Given the description of an element on the screen output the (x, y) to click on. 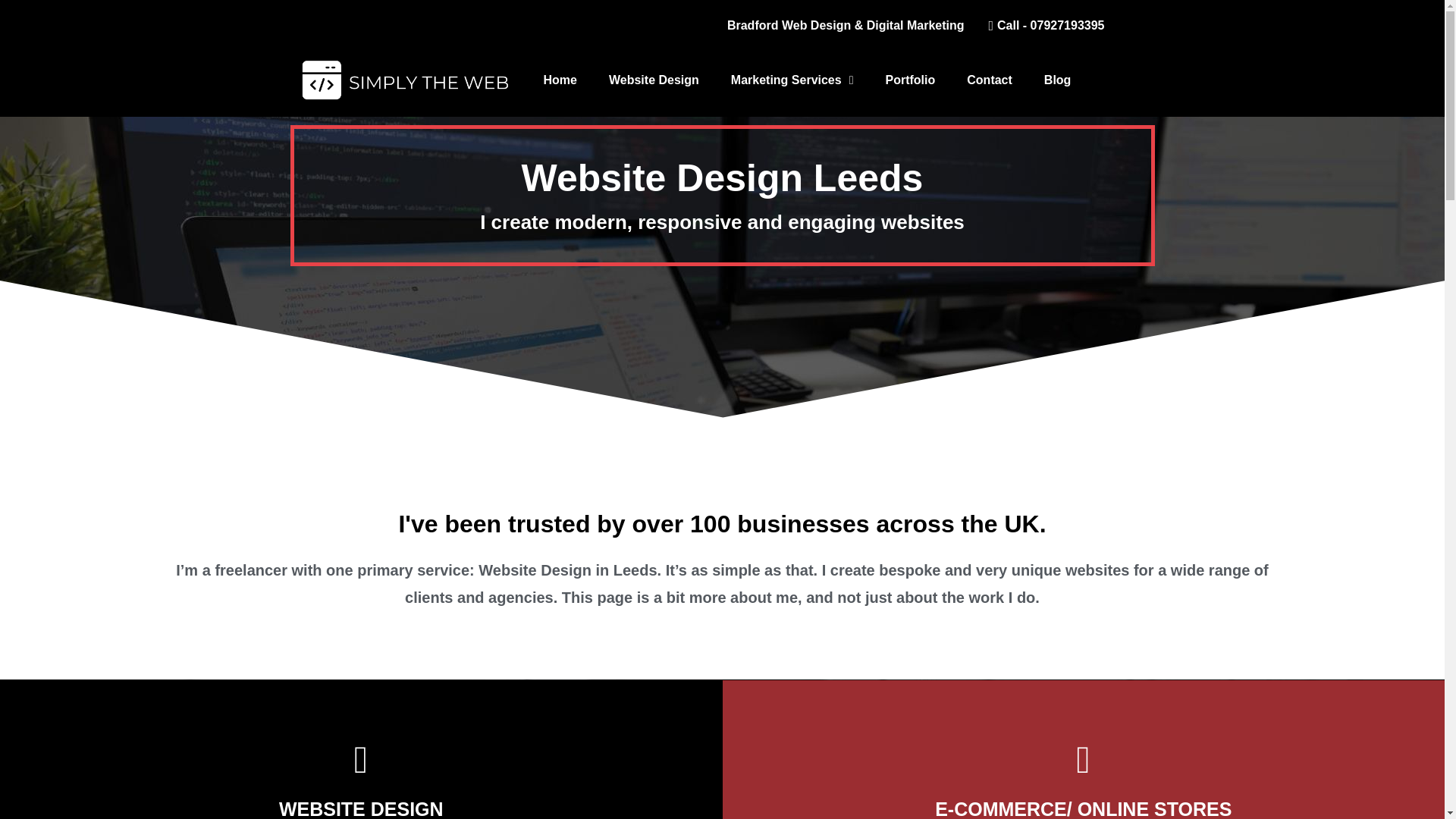
Home (560, 80)
Portfolio (910, 80)
Marketing Services (792, 80)
Contact (989, 80)
Call - 07927193395 (1040, 25)
Website Design (654, 80)
Website Design Leeds (1127, 79)
Blog (1057, 80)
